Given the description of an element on the screen output the (x, y) to click on. 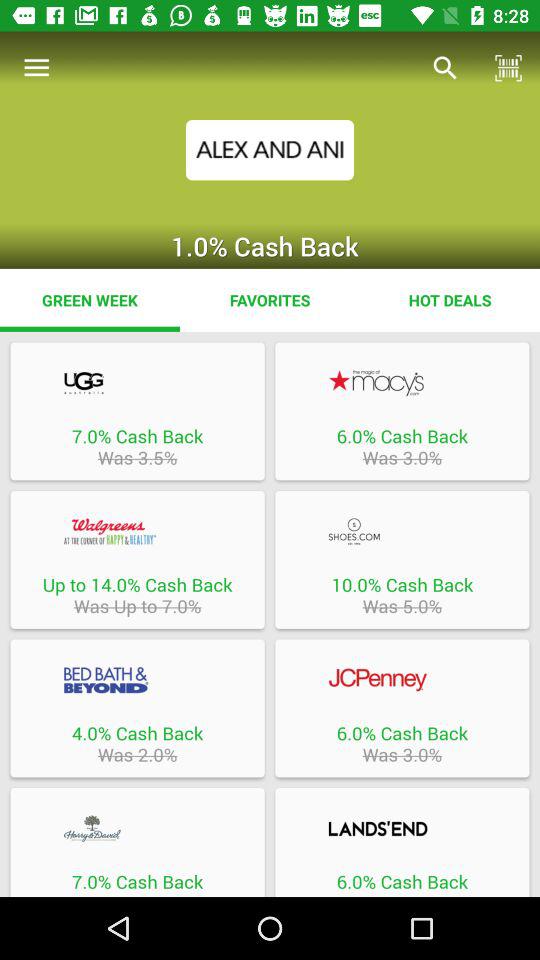
business partner link (402, 531)
